Given the description of an element on the screen output the (x, y) to click on. 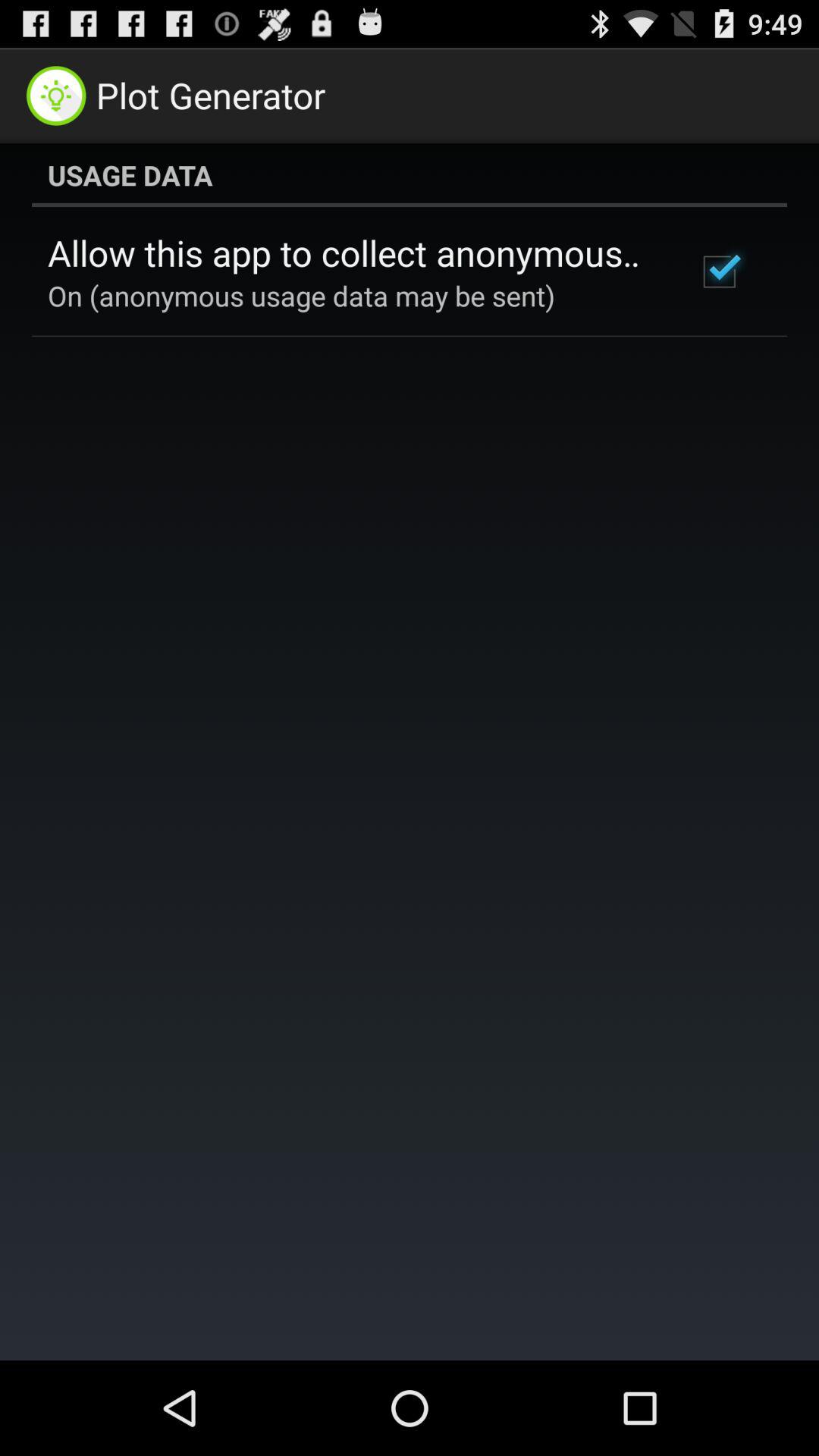
turn on icon to the right of allow this app item (719, 271)
